Given the description of an element on the screen output the (x, y) to click on. 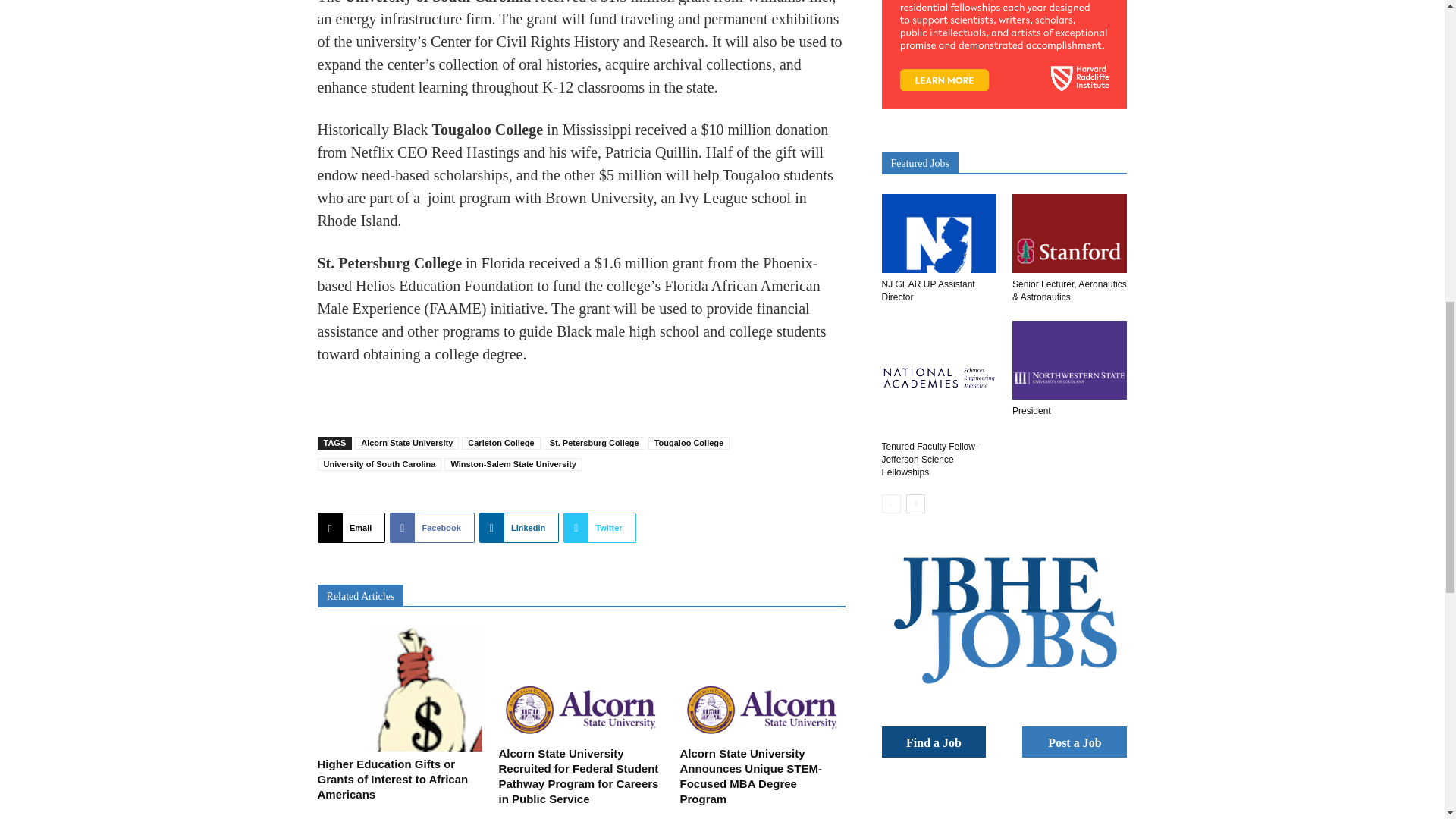
St. Petersburg College (594, 442)
Twitter (598, 527)
Email (351, 527)
Linkedin (519, 527)
University of South Carolina (379, 463)
Winston-Salem State University (513, 463)
Linkedin (519, 527)
Alcorn State University (406, 442)
Facebook (432, 527)
Twitter (598, 527)
Facebook (432, 527)
Tougaloo College (688, 442)
Email (351, 527)
